Given the description of an element on the screen output the (x, y) to click on. 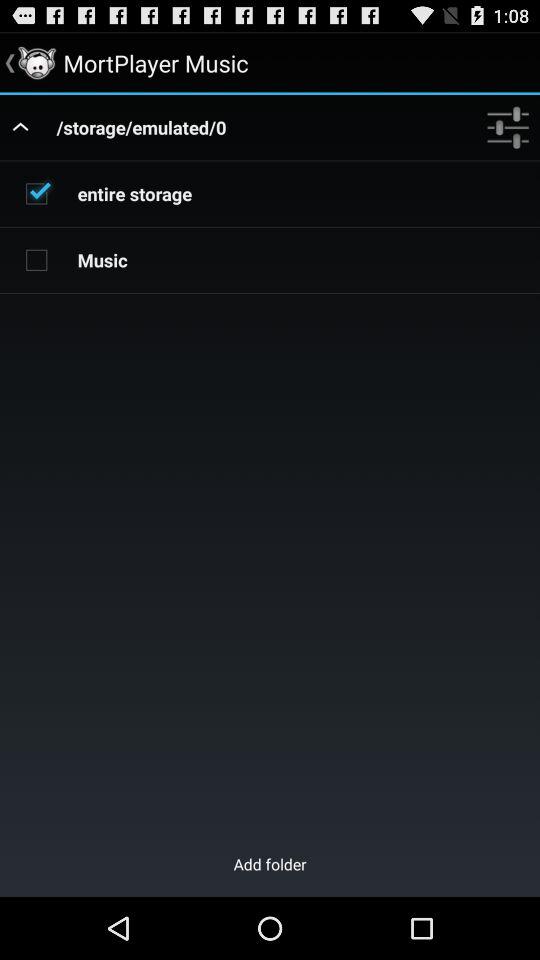
toggle entire storage (36, 193)
